Given the description of an element on the screen output the (x, y) to click on. 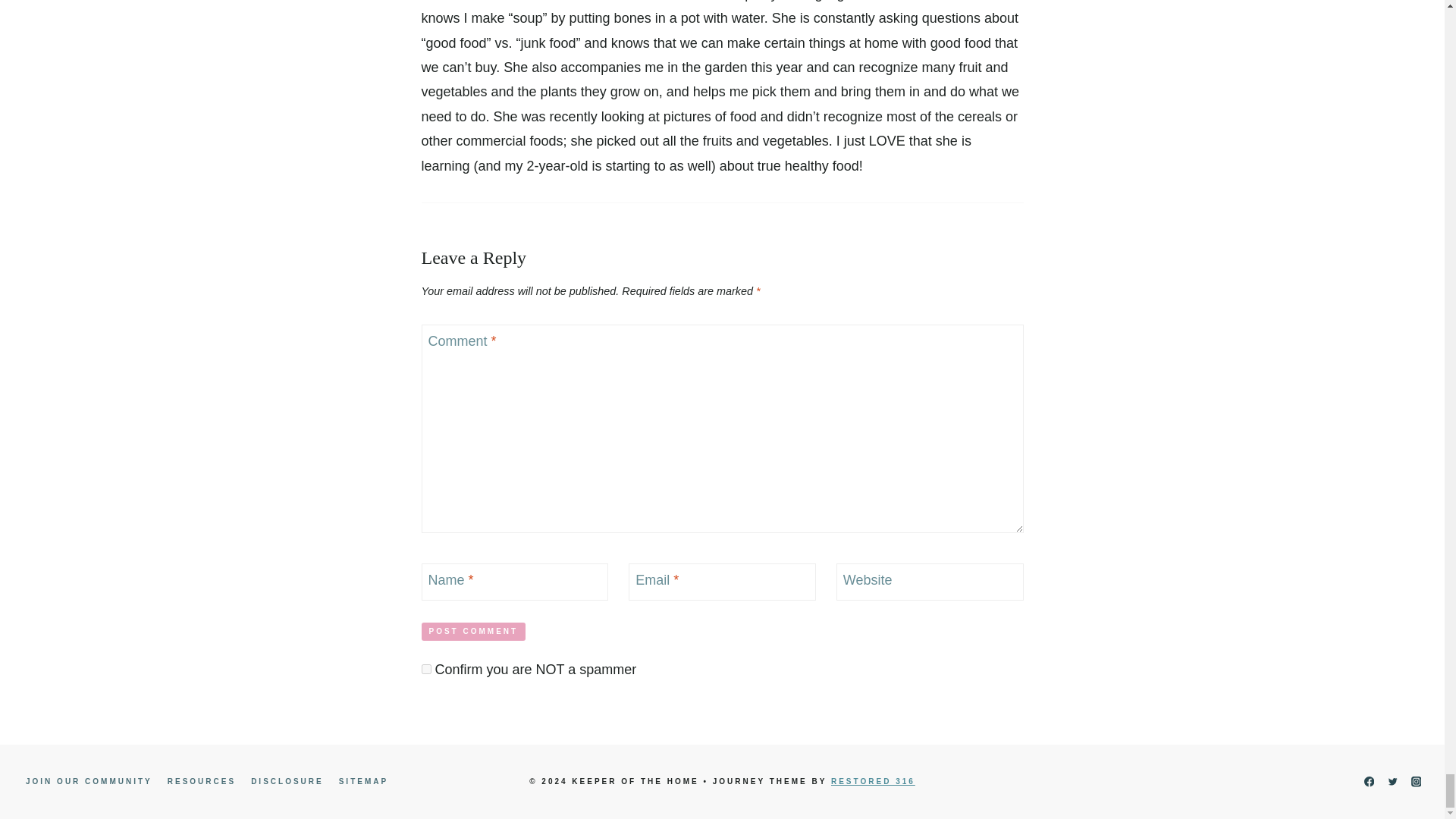
on (426, 669)
Post Comment (473, 631)
